Given the description of an element on the screen output the (x, y) to click on. 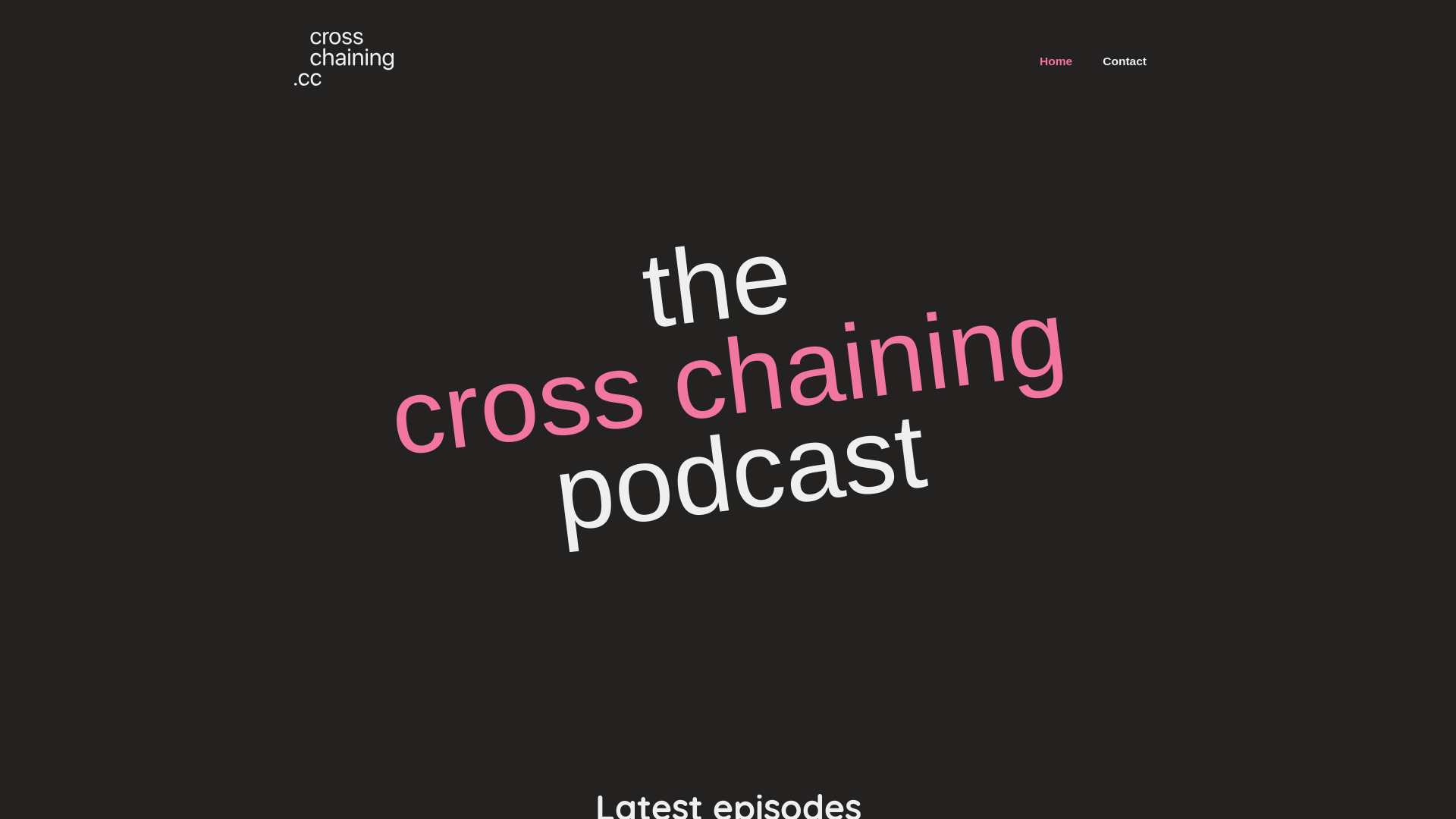
Home Element type: text (1055, 61)
Contact Element type: text (1124, 61)
